Given the description of an element on the screen output the (x, y) to click on. 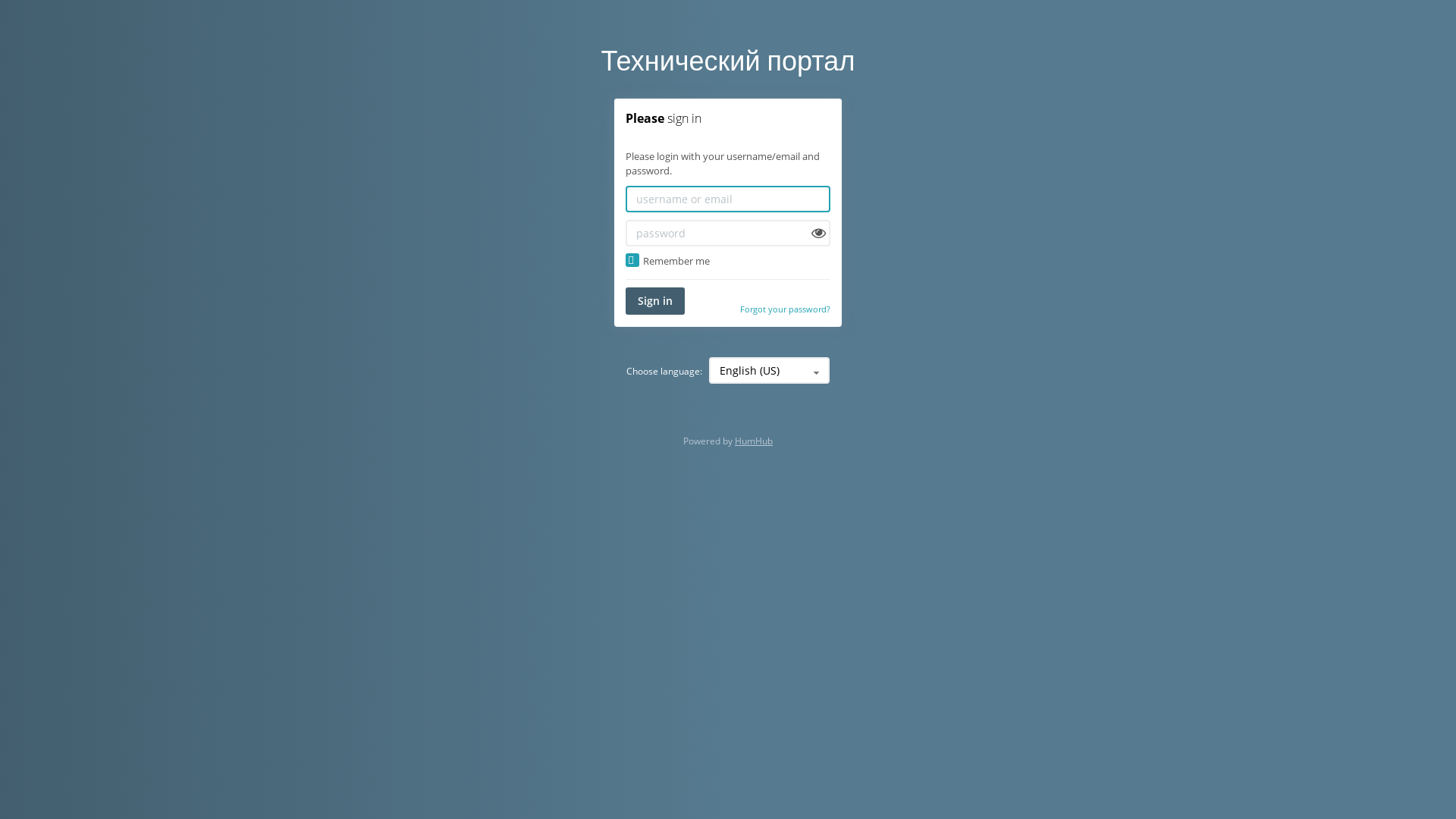
Forgot your password? Element type: text (785, 316)
Sign in Element type: text (654, 300)
HumHub Element type: text (753, 440)
